Given the description of an element on the screen output the (x, y) to click on. 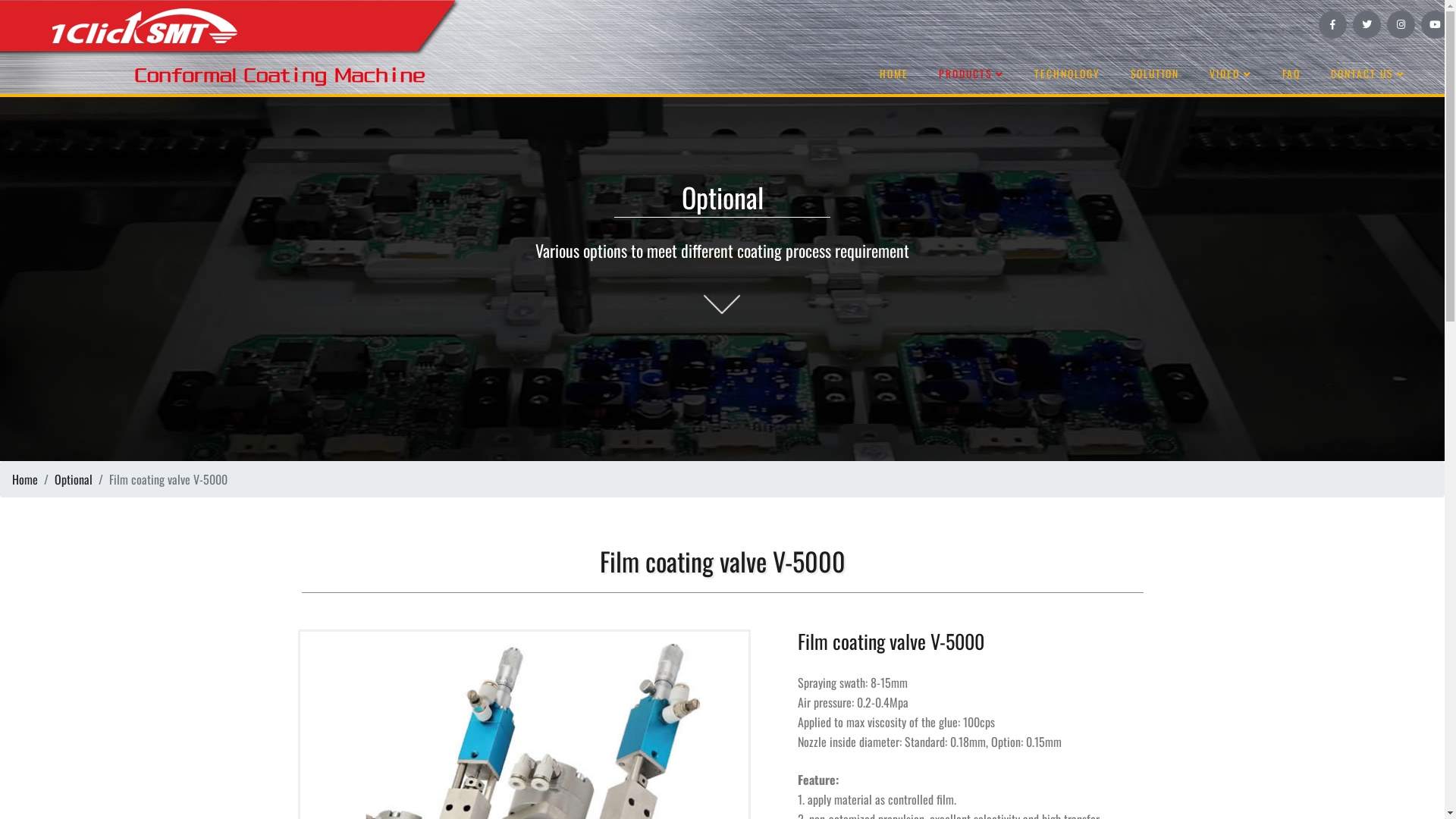
CONTACT US Element type: text (1367, 73)
HOME Element type: text (893, 73)
Home Element type: text (24, 479)
SOLUTION Element type: text (1154, 73)
PRODUCTS Element type: text (971, 73)
FAQ Element type: text (1290, 73)
TECHNOLOGY Element type: text (1066, 73)
VIDEO Element type: text (1230, 73)
Optional Element type: text (73, 479)
